Given the description of an element on the screen output the (x, y) to click on. 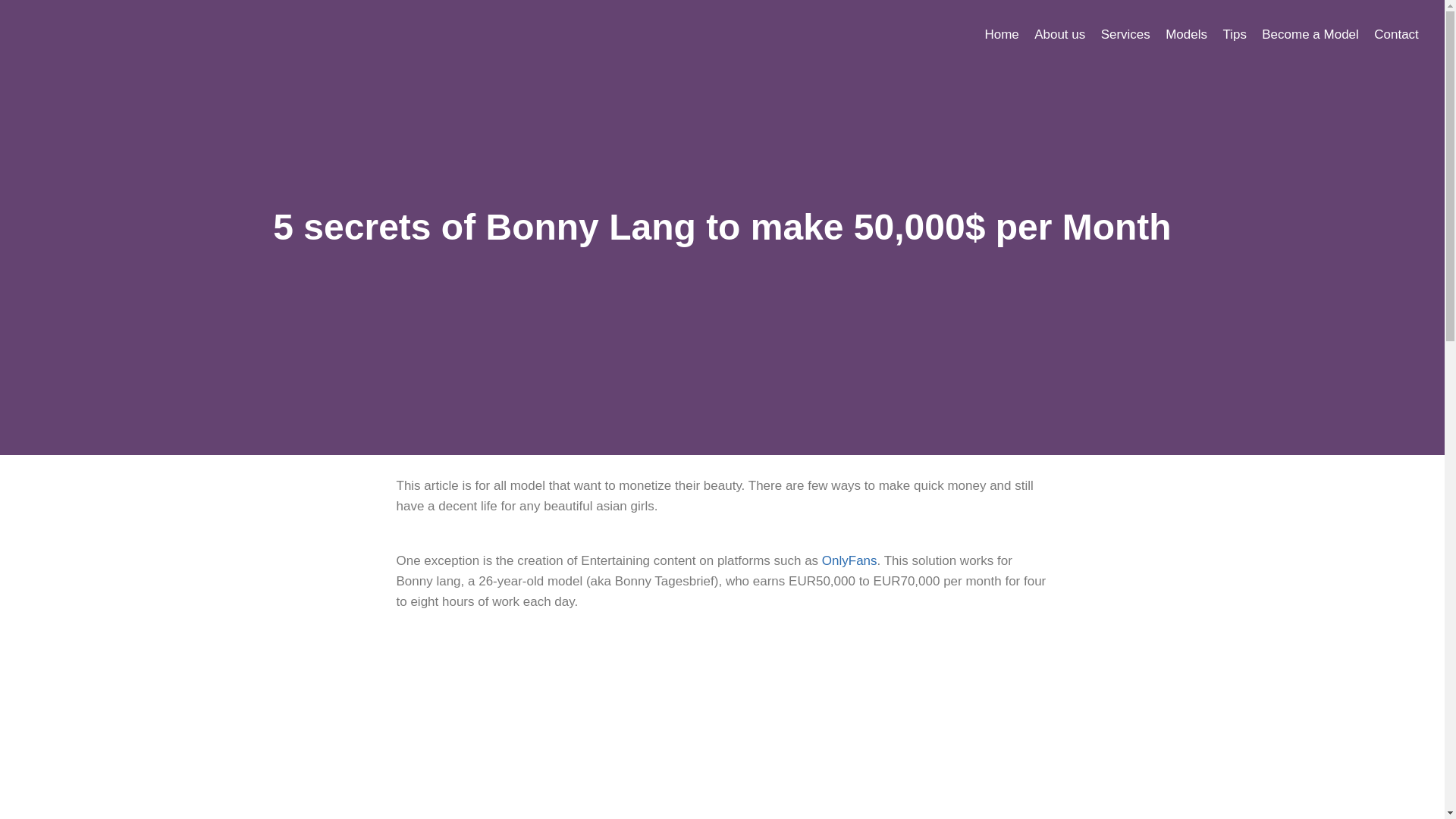
OnlyFans (849, 560)
About us (1059, 33)
Home (1001, 33)
Services (1125, 33)
Become a Model (1310, 33)
Models (1185, 33)
Tips (1233, 33)
Contact (1396, 33)
